Given the description of an element on the screen output the (x, y) to click on. 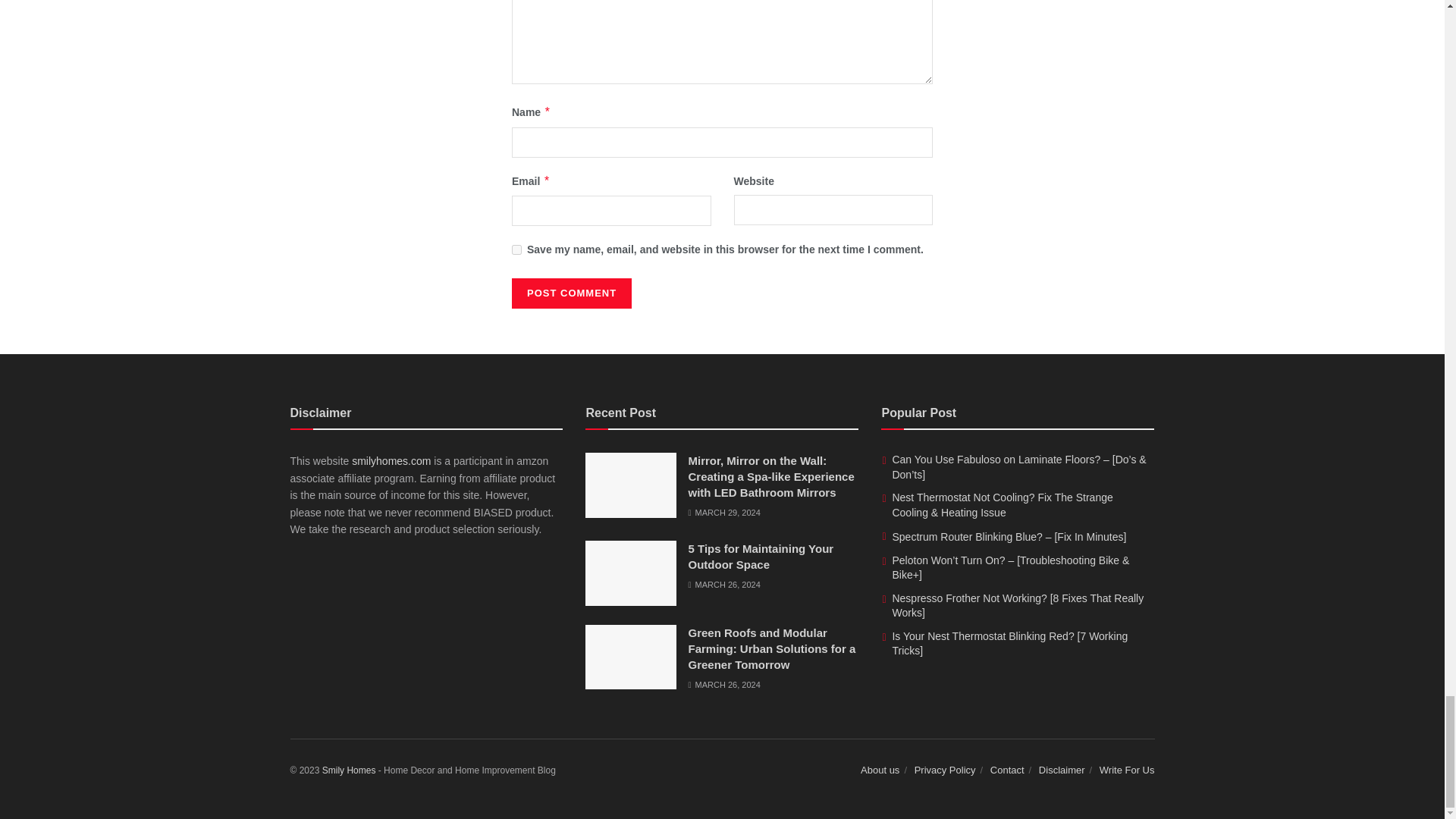
yes (516, 249)
Post Comment (571, 293)
Home Decor and Home Improvement Blog (348, 769)
